Given the description of an element on the screen output the (x, y) to click on. 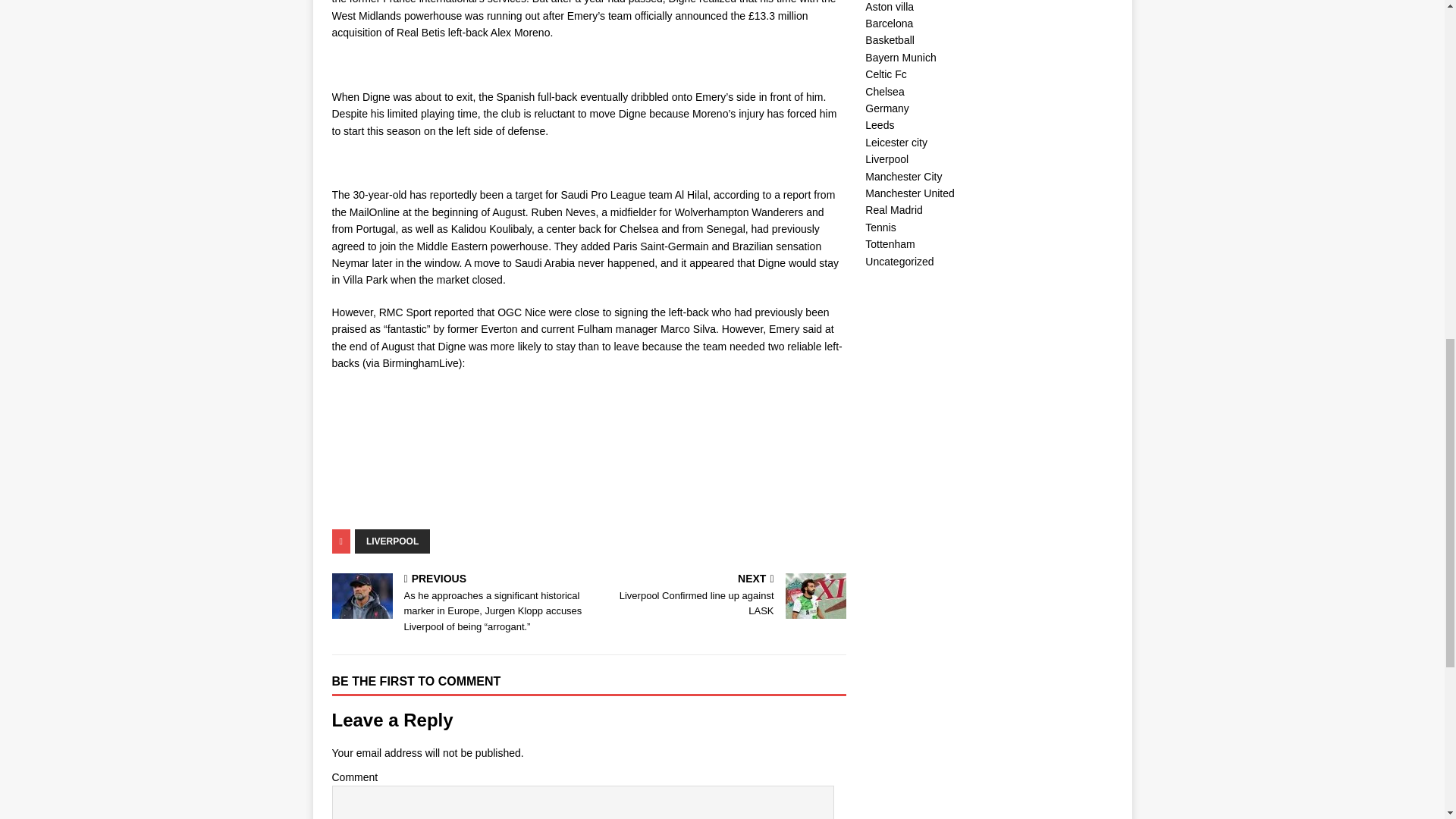
LIVERPOOL (392, 541)
